Given the description of an element on the screen output the (x, y) to click on. 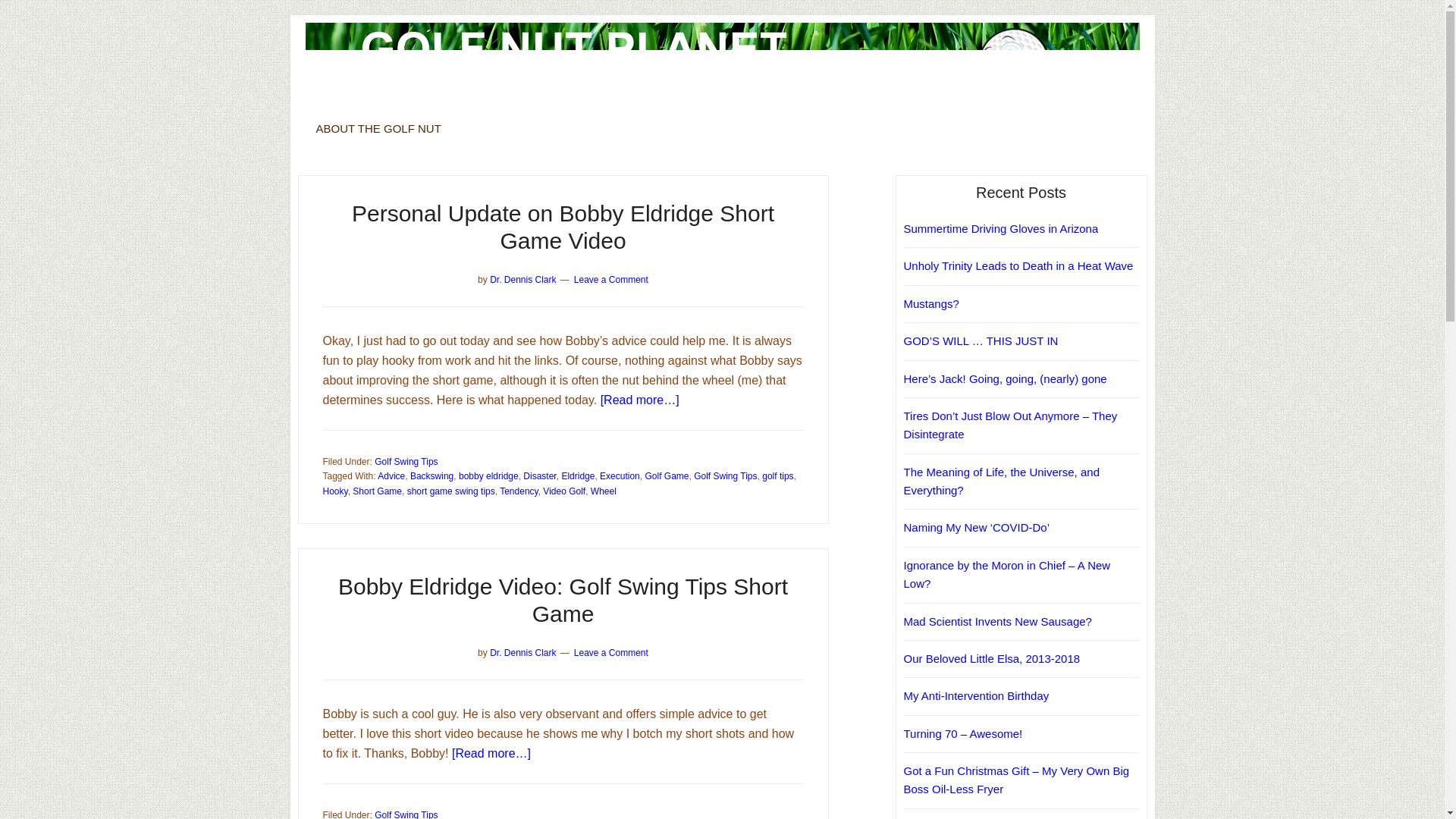
Personal Update on Bobby Eldridge Short Game Video (563, 226)
Bobby Eldridge Video: Golf Swing Tips Short Game (562, 600)
short game swing tips (451, 490)
Disaster (539, 475)
Golf Swing Tips (406, 461)
Short Game (376, 490)
Advice (390, 475)
golf tips (777, 475)
Tendency (518, 490)
ABOUT THE GOLF NUT (377, 128)
